Given the description of an element on the screen output the (x, y) to click on. 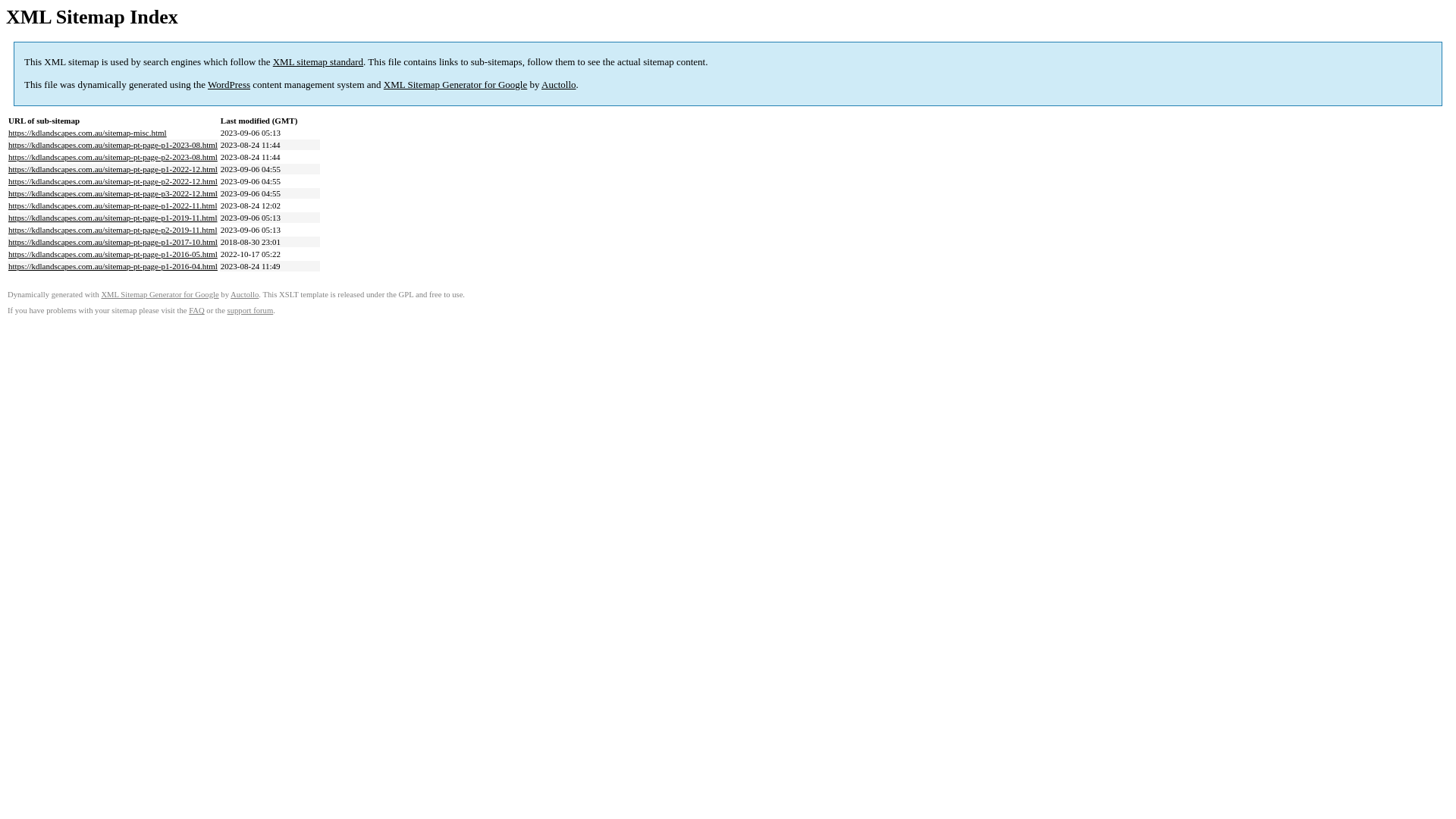
https://kdlandscapes.com.au/sitemap-misc.html Element type: text (87, 132)
https://kdlandscapes.com.au/sitemap-pt-page-p1-2016-05.html Element type: text (112, 253)
https://kdlandscapes.com.au/sitemap-pt-page-p2-2023-08.html Element type: text (112, 156)
https://kdlandscapes.com.au/sitemap-pt-page-p1-2023-08.html Element type: text (112, 144)
https://kdlandscapes.com.au/sitemap-pt-page-p1-2019-11.html Element type: text (112, 217)
https://kdlandscapes.com.au/sitemap-pt-page-p2-2022-12.html Element type: text (112, 180)
XML sitemap standard Element type: text (318, 61)
https://kdlandscapes.com.au/sitemap-pt-page-p2-2019-11.html Element type: text (112, 229)
https://kdlandscapes.com.au/sitemap-pt-page-p1-2022-12.html Element type: text (112, 168)
support forum Element type: text (250, 310)
Auctollo Element type: text (558, 84)
XML Sitemap Generator for Google Element type: text (455, 84)
WordPress Element type: text (228, 84)
Auctollo Element type: text (244, 294)
https://kdlandscapes.com.au/sitemap-pt-page-p3-2022-12.html Element type: text (112, 192)
https://kdlandscapes.com.au/sitemap-pt-page-p1-2016-04.html Element type: text (112, 265)
XML Sitemap Generator for Google Element type: text (159, 294)
https://kdlandscapes.com.au/sitemap-pt-page-p1-2022-11.html Element type: text (112, 205)
https://kdlandscapes.com.au/sitemap-pt-page-p1-2017-10.html Element type: text (112, 241)
FAQ Element type: text (196, 310)
